Given the description of an element on the screen output the (x, y) to click on. 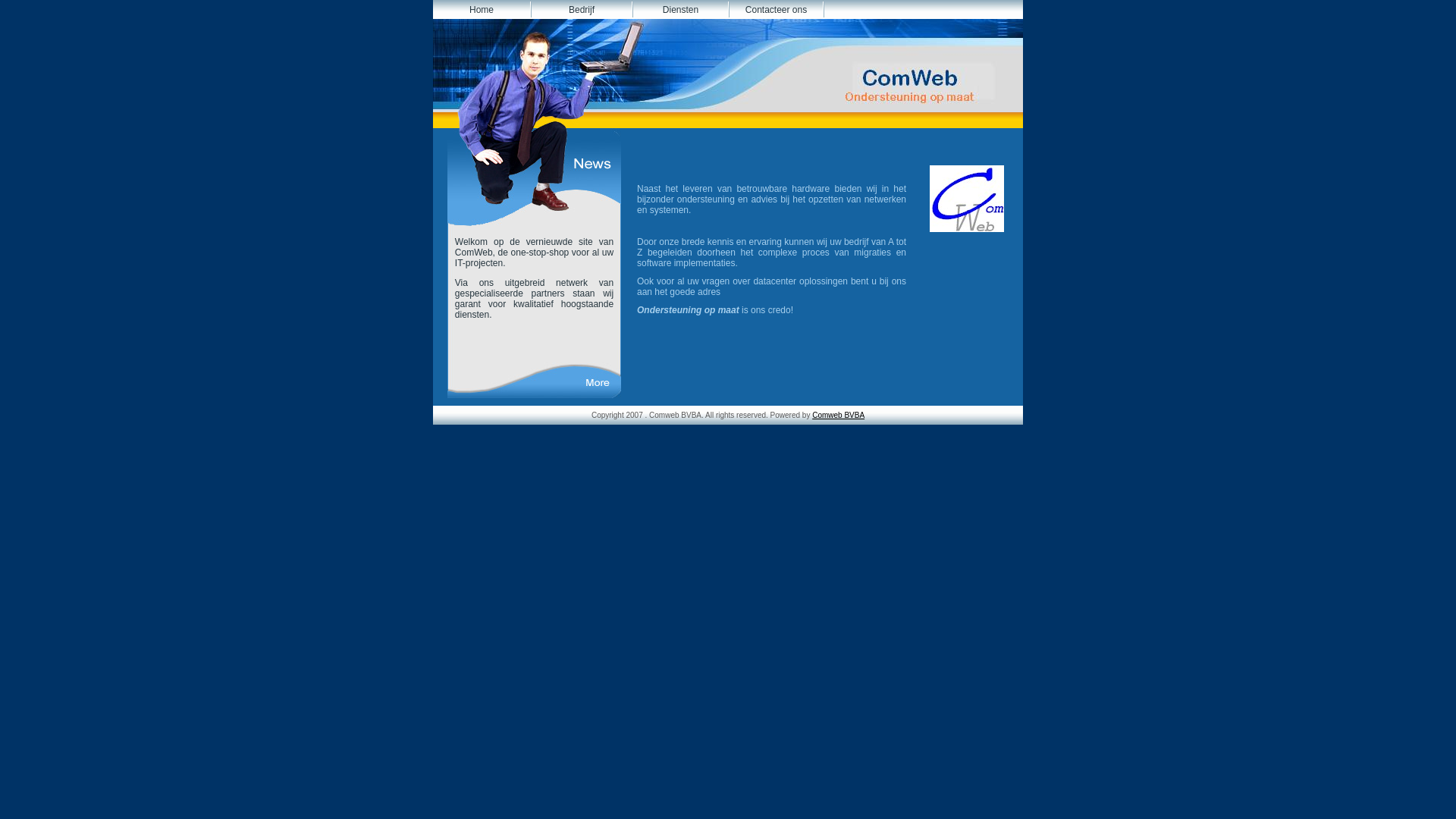
Bedrijf Element type: text (581, 9)
Comweb BVBA Element type: text (838, 415)
Diensten Element type: text (680, 9)
Contacteer ons Element type: text (775, 9)
Home Element type: text (481, 9)
